Given the description of an element on the screen output the (x, y) to click on. 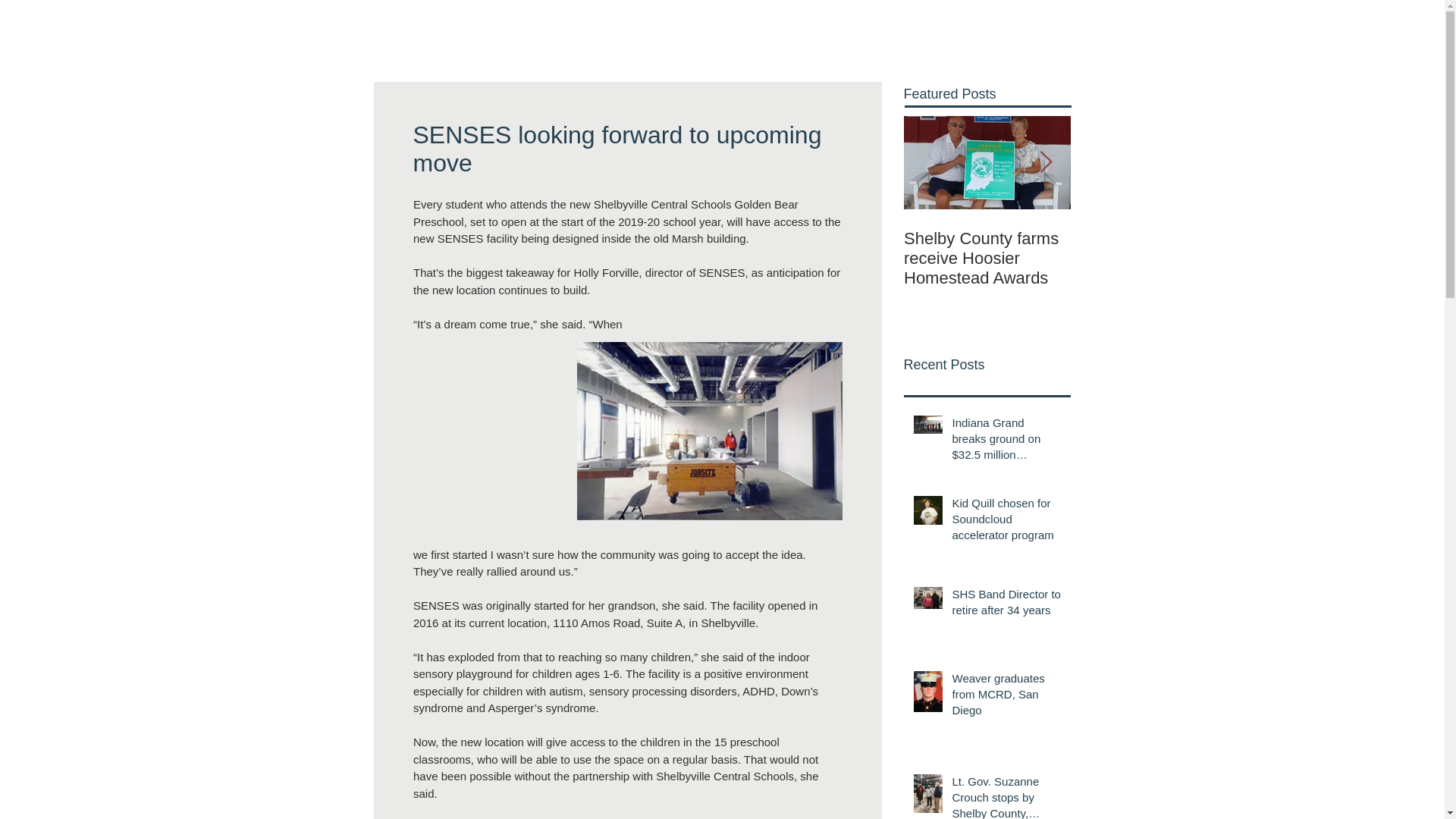
Shelby County farms receive Hoosier Homestead Awards (987, 258)
SHS Band Director to retire after 34 years (1006, 605)
Southwestern student finishes first in Braille Challenge (1153, 258)
Kid Quill chosen for Soundcloud accelerator program (1006, 521)
Weaver graduates from MCRD, San Diego (1006, 696)
